Given the description of an element on the screen output the (x, y) to click on. 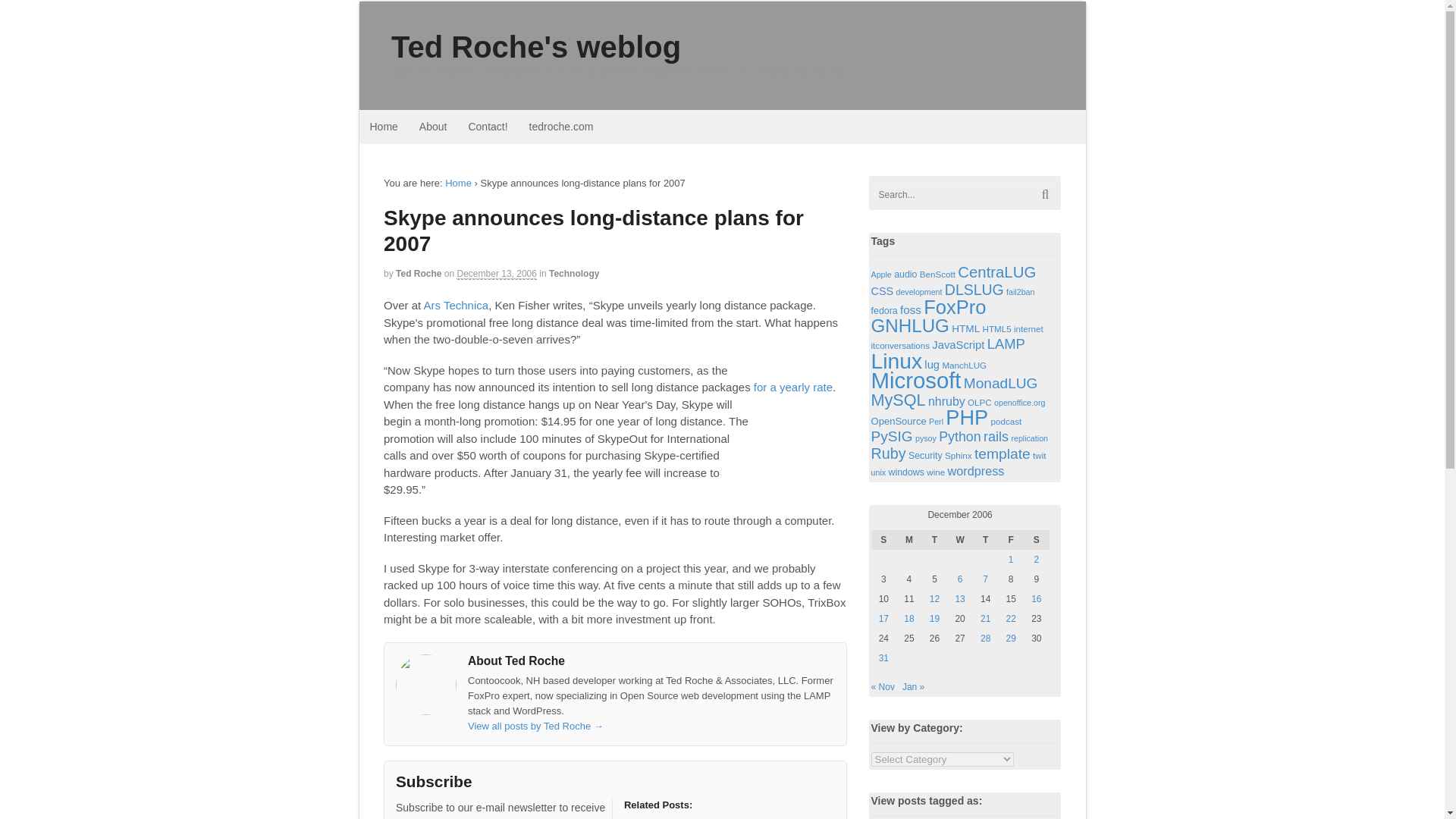
Posts by Ted Roche (418, 273)
tedroche.com (561, 126)
HTML (965, 328)
About (433, 126)
fedora (884, 310)
for a yearly rate (793, 386)
Home (384, 126)
DLSLUG (974, 289)
Monday (908, 539)
View all items in Technology (573, 273)
